Given the description of an element on the screen output the (x, y) to click on. 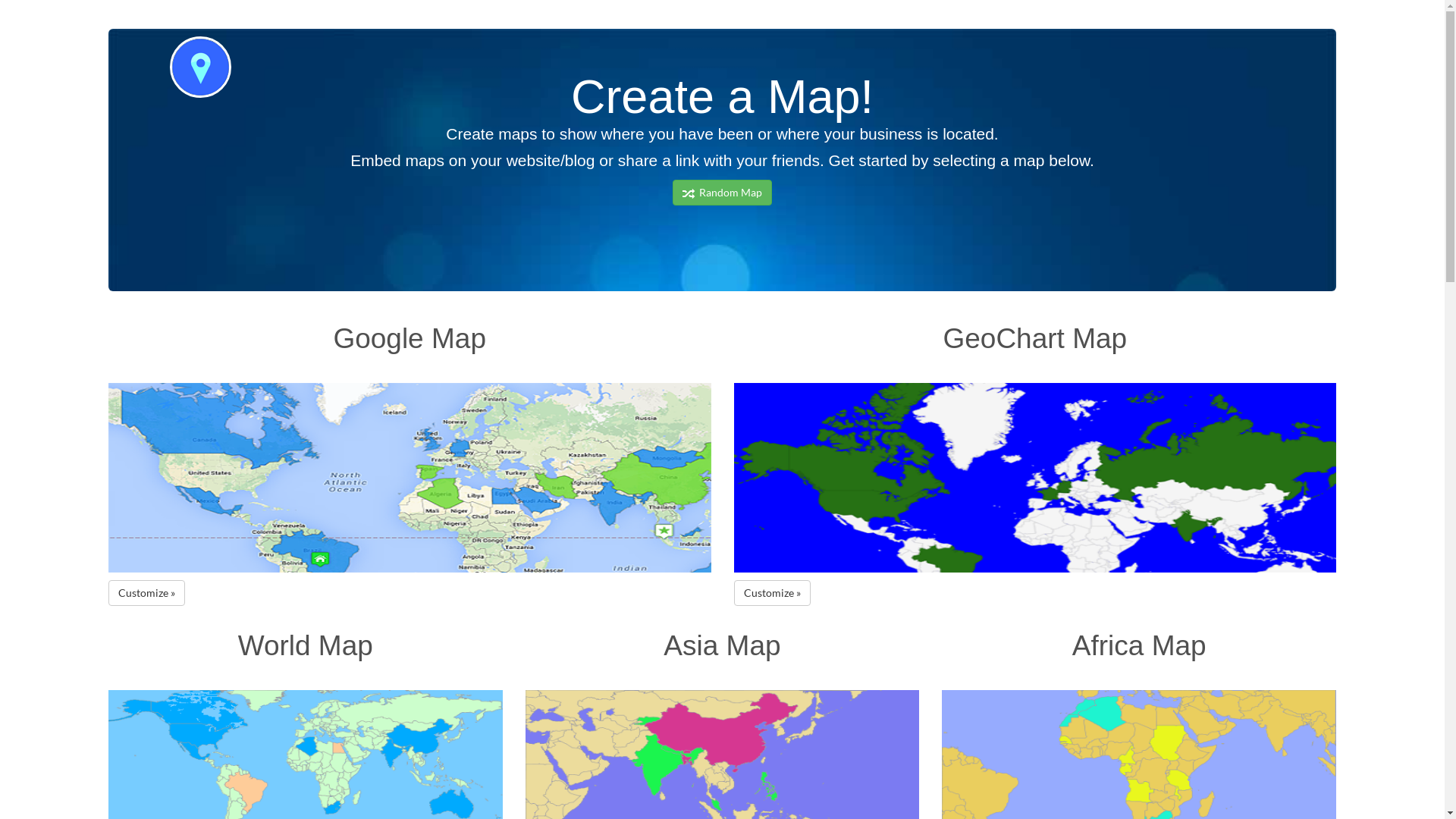
 Random Map Element type: text (721, 192)
